Given the description of an element on the screen output the (x, y) to click on. 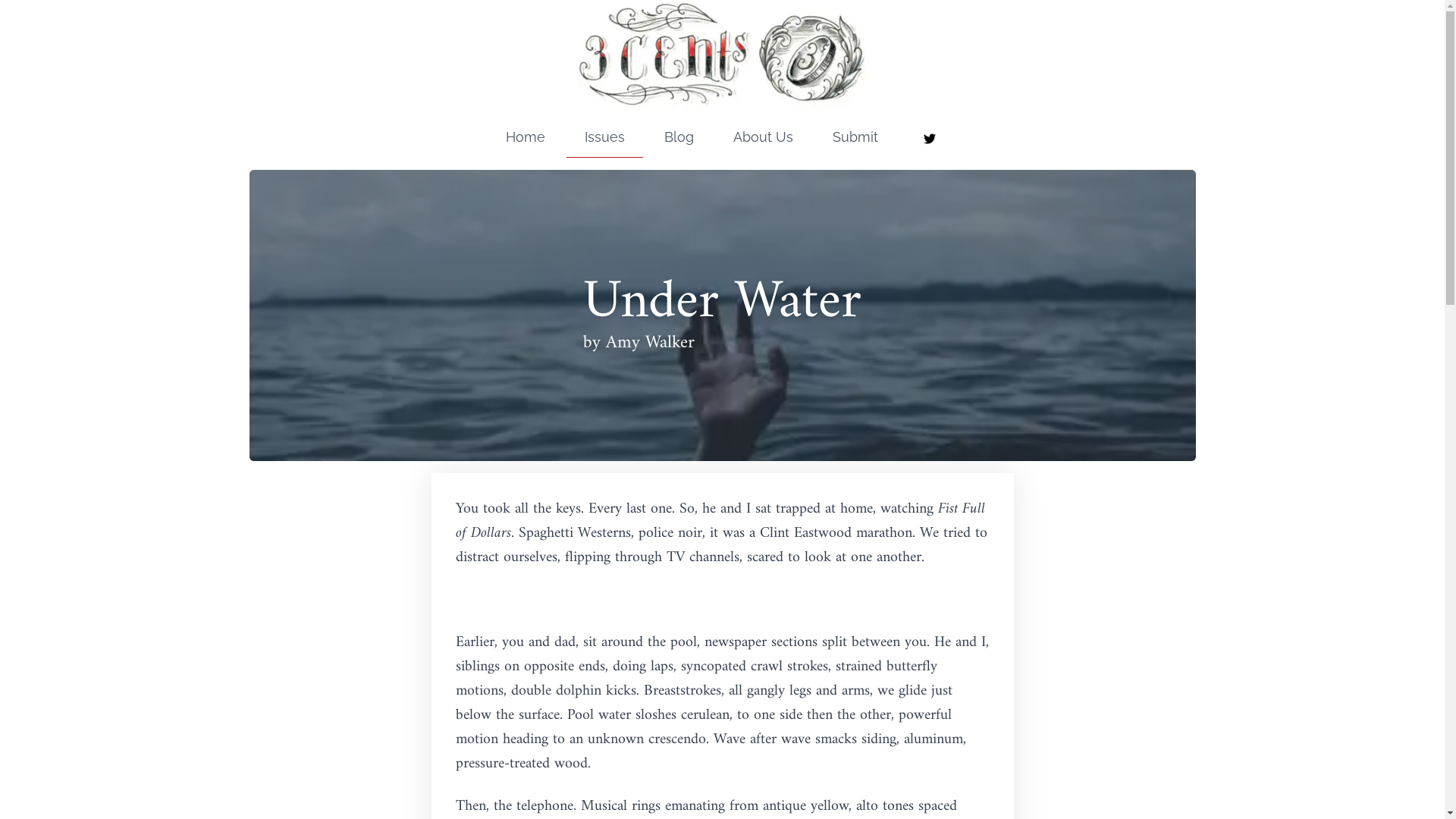
Issues Element type: text (604, 138)
Home Element type: text (525, 138)
Submit Element type: text (855, 138)
Blog Element type: text (679, 138)
About Us Element type: text (763, 138)
